Given the description of an element on the screen output the (x, y) to click on. 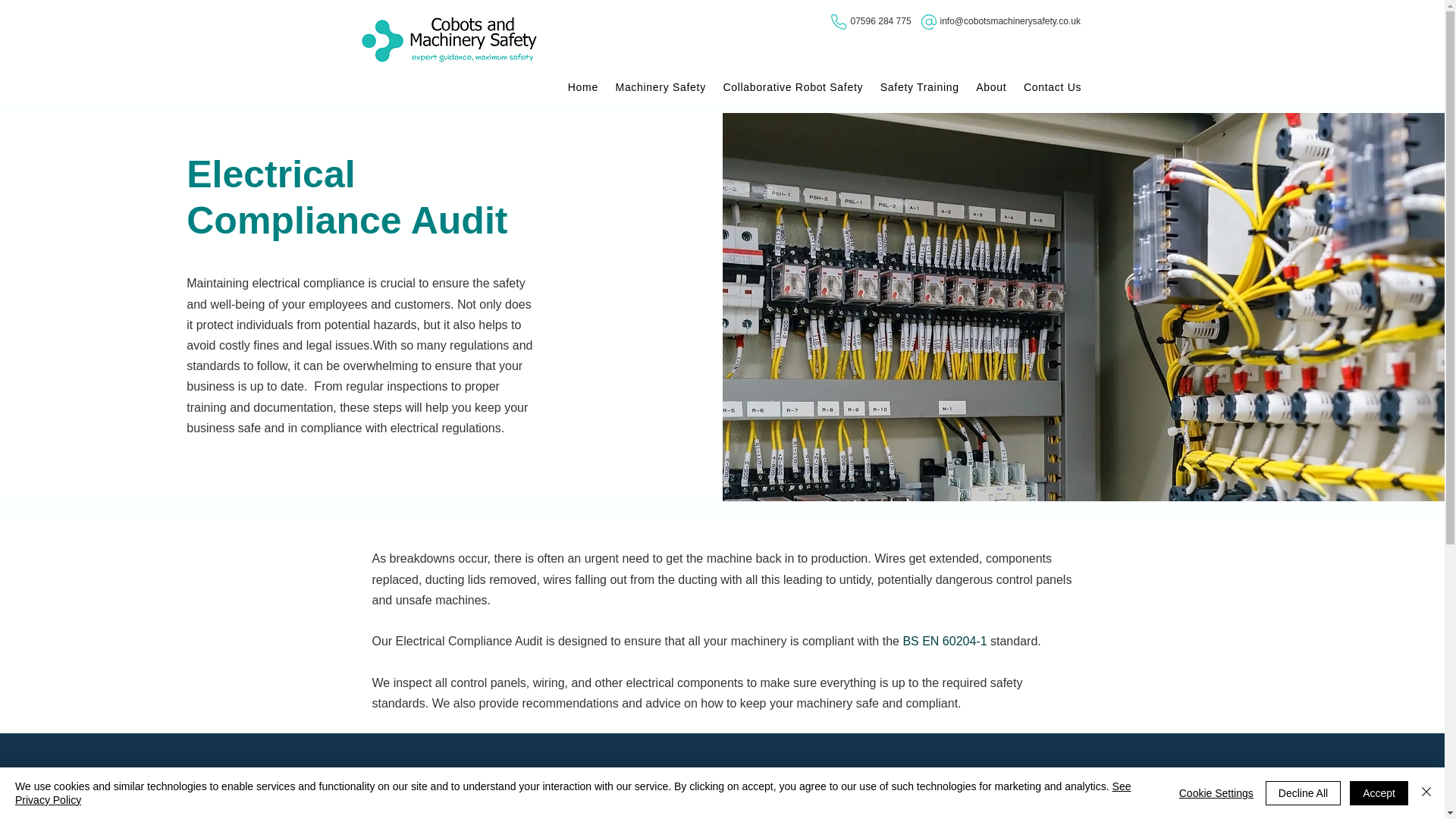
07596 284 775 (880, 20)
Machinery Safety (660, 86)
About (991, 86)
Home (583, 86)
BS EN 60204-1 (944, 640)
Contact Us (1052, 86)
Safety Training (920, 86)
